Given the description of an element on the screen output the (x, y) to click on. 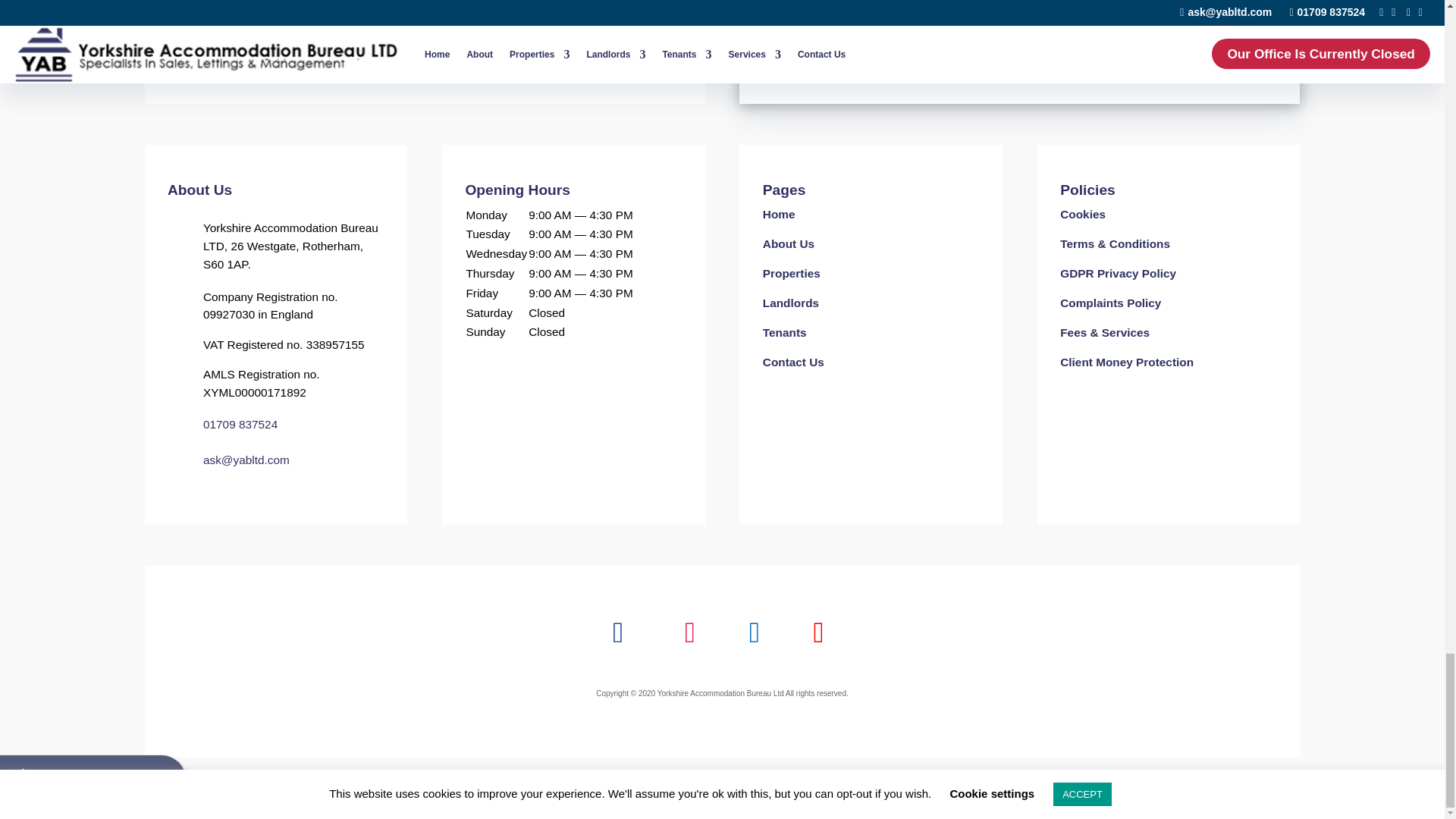
Follow on Youtube (818, 632)
Follow on X (754, 632)
Follow on Facebook (618, 632)
Follow on Instagram (690, 632)
